Given the description of an element on the screen output the (x, y) to click on. 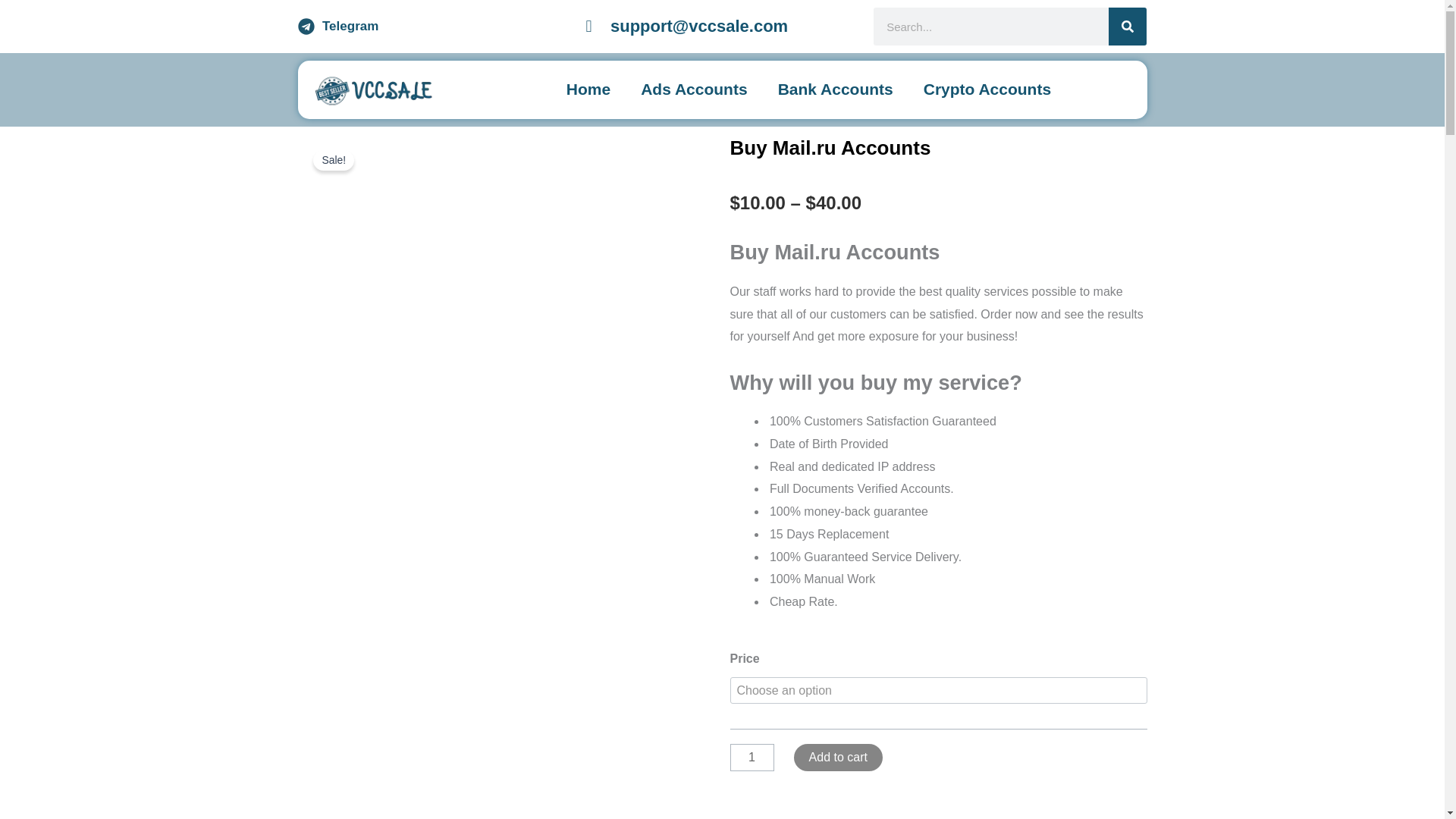
Add to cart (837, 757)
Bank Accounts (835, 89)
1 (751, 757)
Search (1127, 26)
Crypto Accounts (986, 89)
Home (588, 89)
Ads Accounts (693, 89)
